Given the description of an element on the screen output the (x, y) to click on. 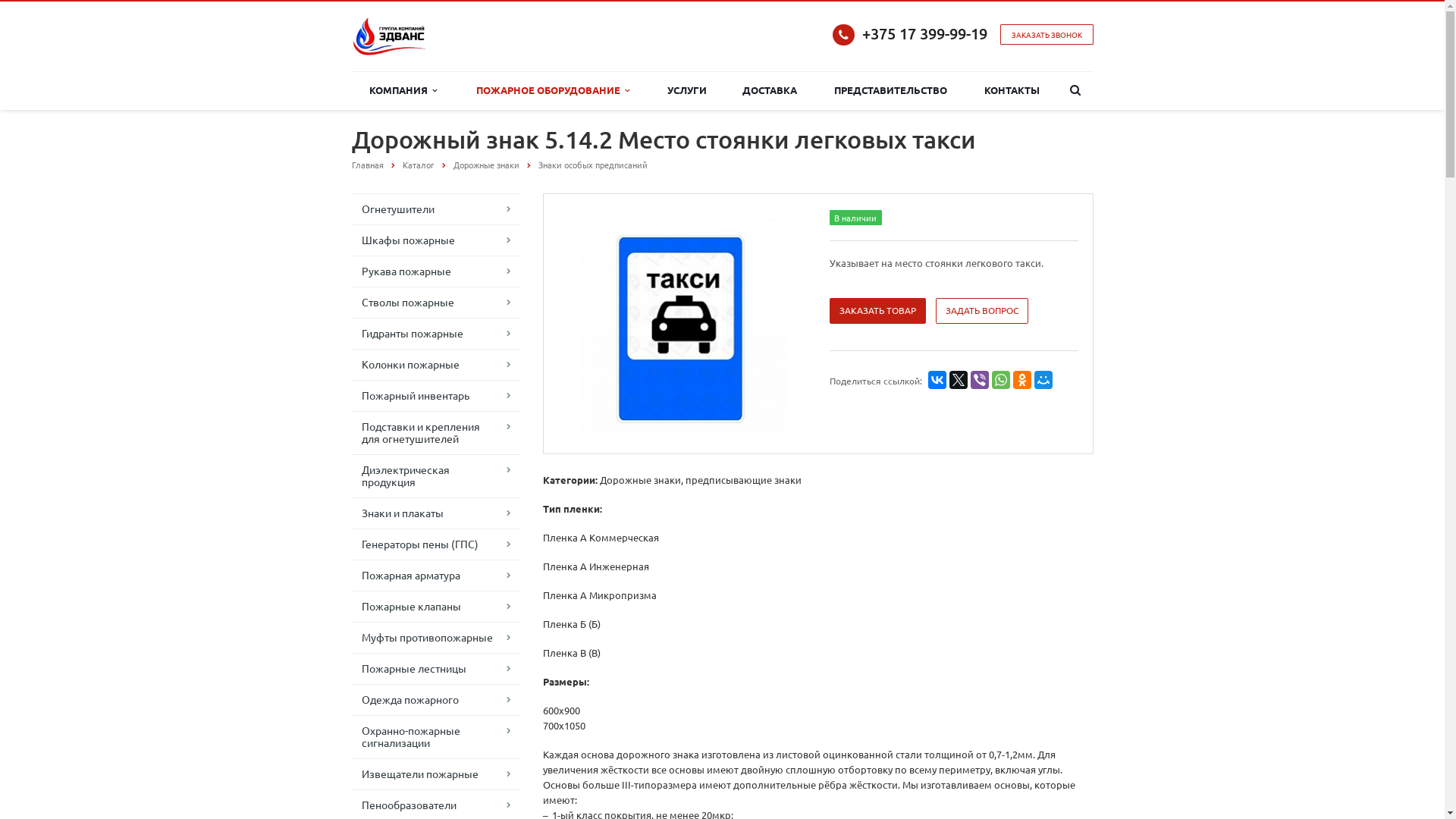
Viber Element type: hover (979, 379)
gcafire.by Element type: hover (388, 36)
Twitter Element type: hover (958, 379)
WhatsApp Element type: hover (1000, 379)
+375 17 399-99-19 Element type: text (923, 33)
